Given the description of an element on the screen output the (x, y) to click on. 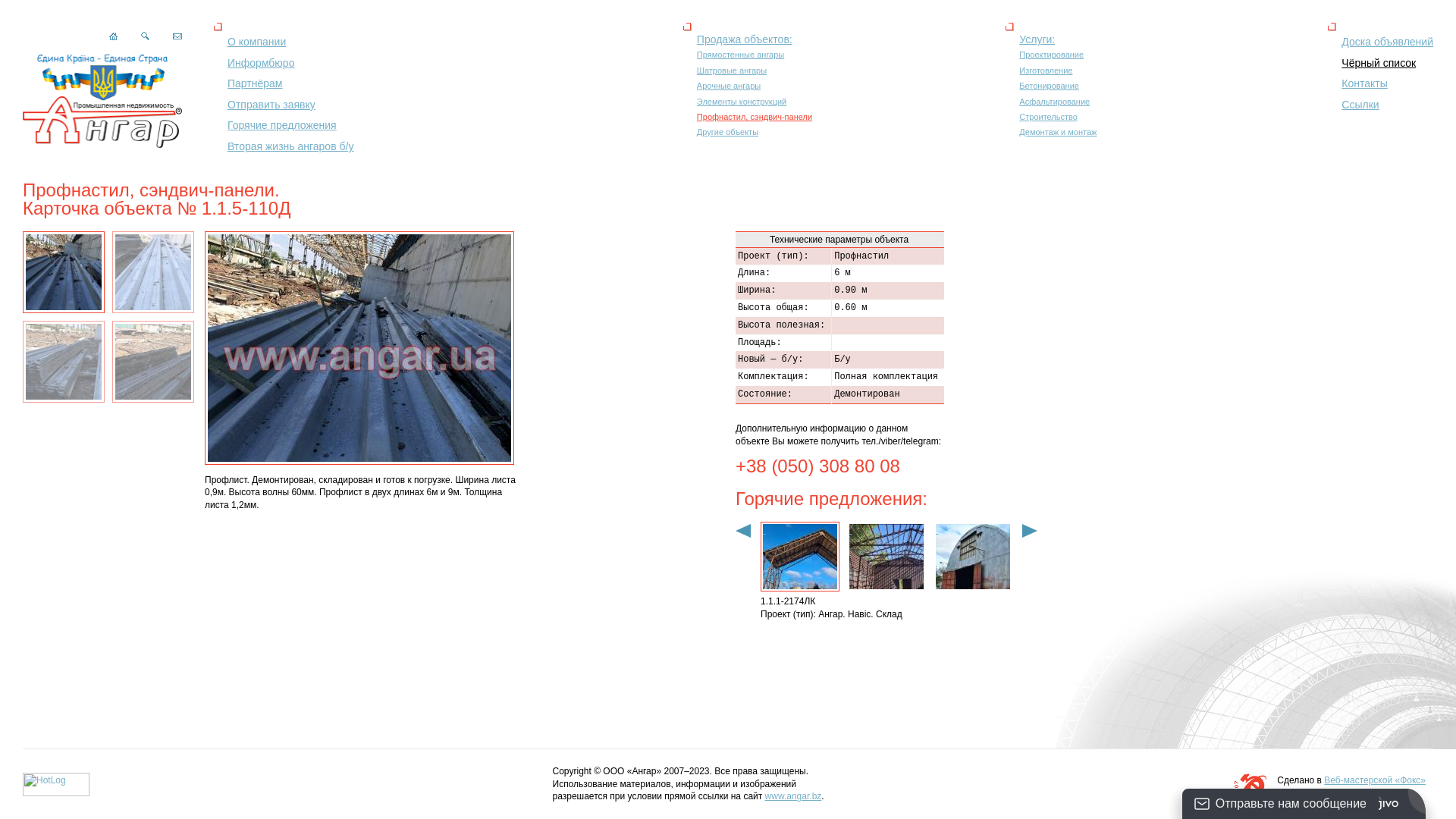
  Element type: text (799, 556)
  Element type: text (972, 556)
  Element type: text (886, 556)
www.angar.bz Element type: text (793, 795)
